Given the description of an element on the screen output the (x, y) to click on. 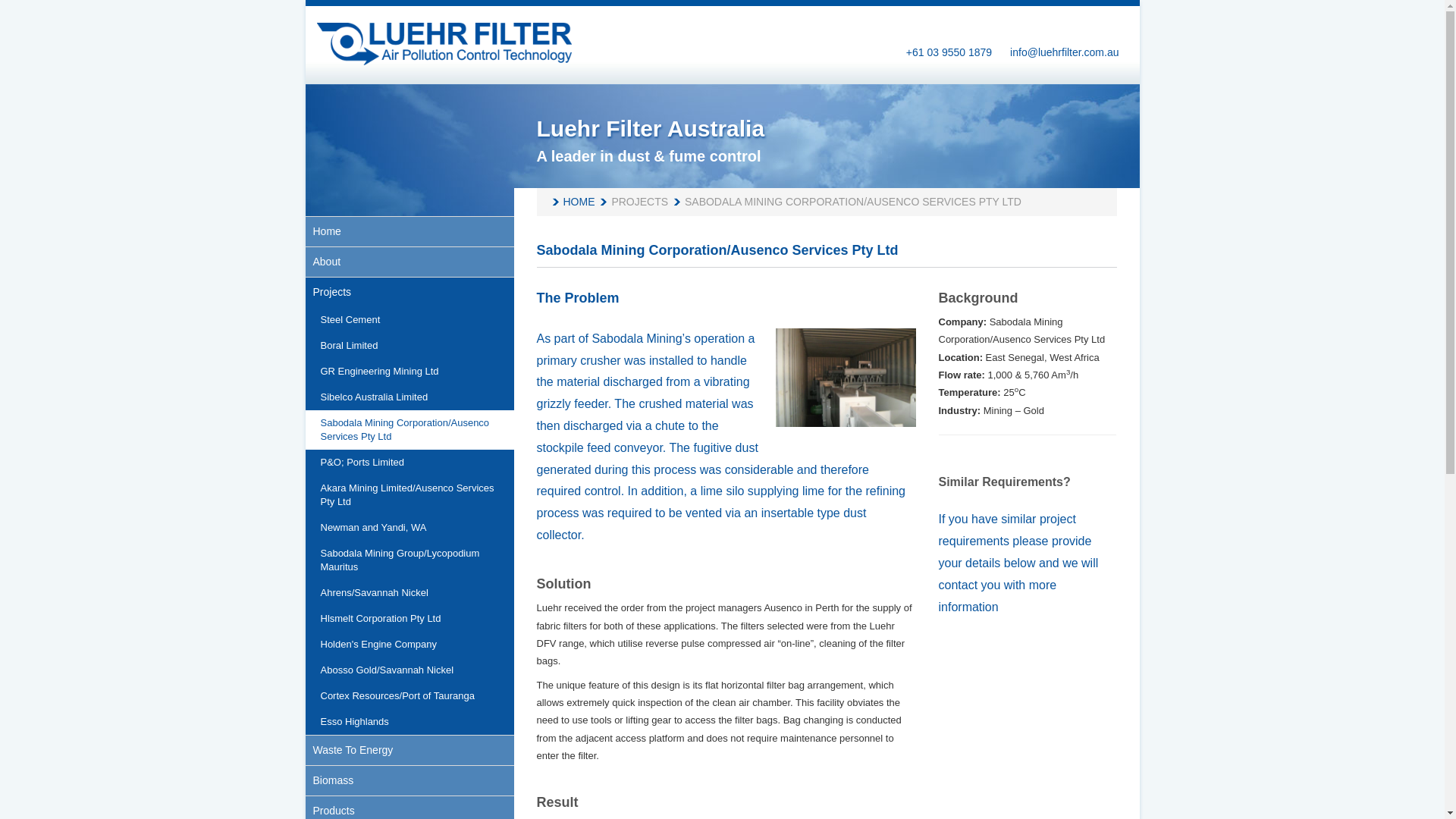
HOME (571, 201)
